Given the description of an element on the screen output the (x, y) to click on. 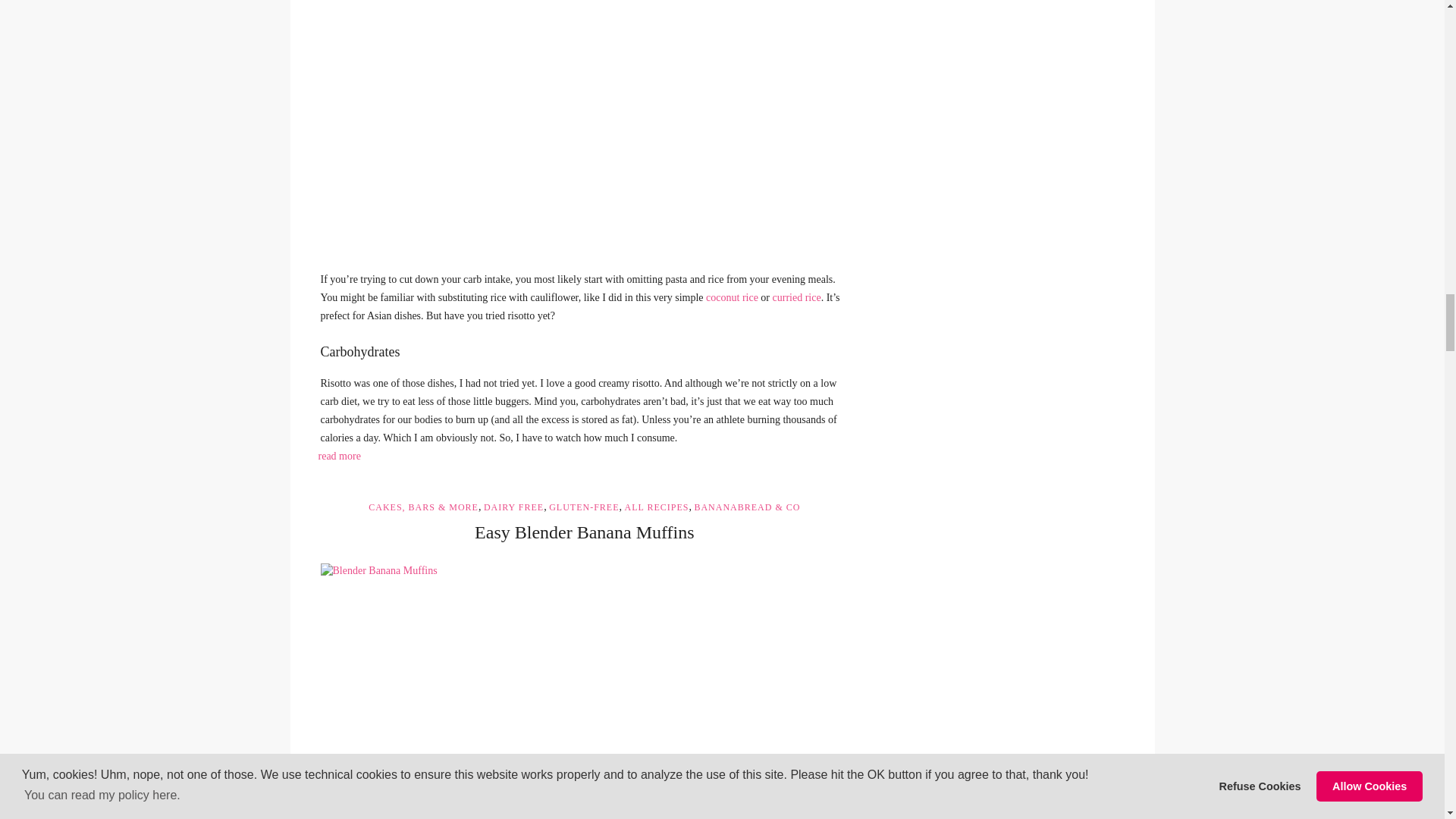
Low Carb Spinach Risotto (584, 124)
